Given the description of an element on the screen output the (x, y) to click on. 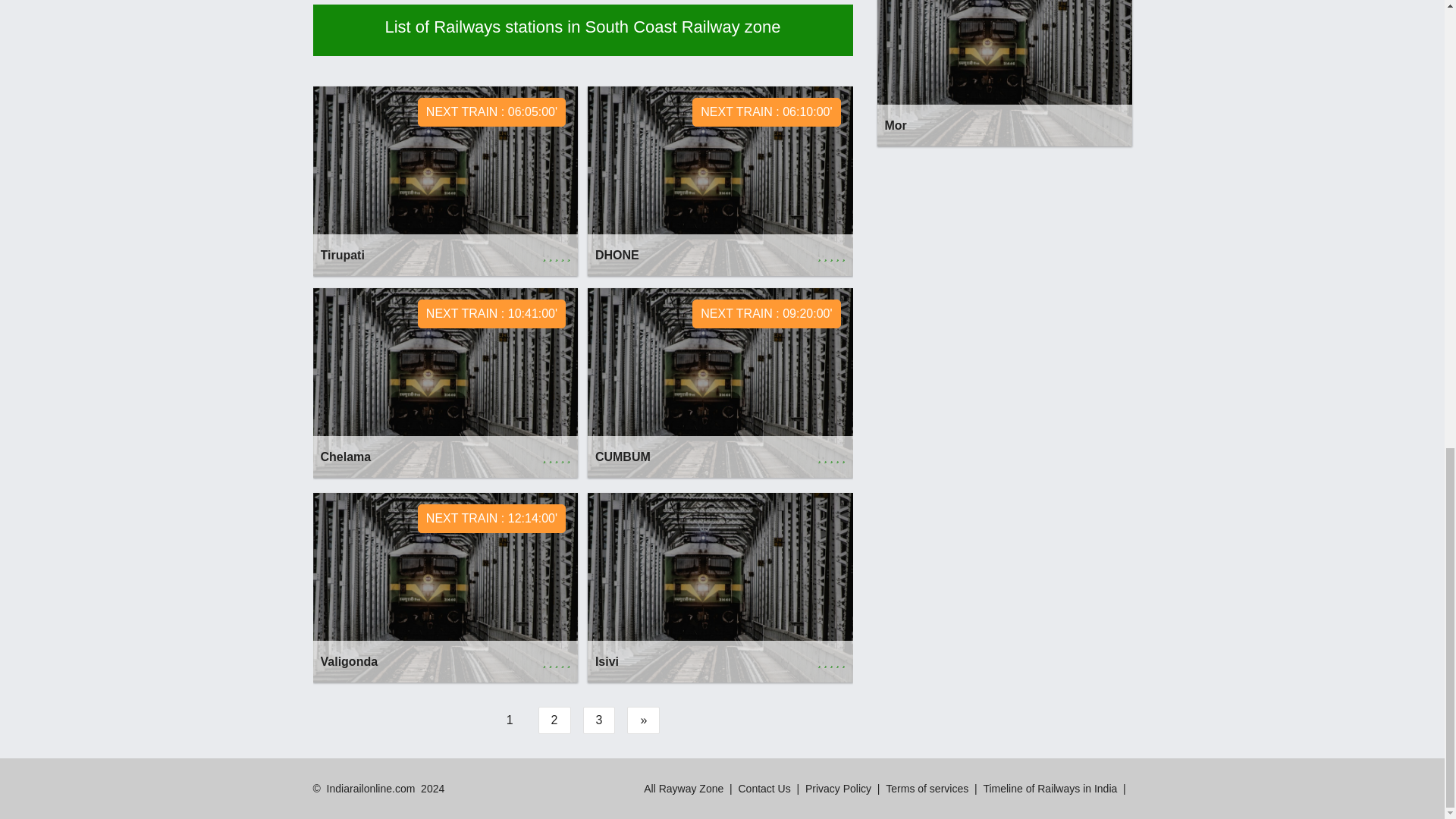
Timeline of Railways in India (445, 181)
All Rayway Zone (1003, 73)
Contact Us (1049, 788)
3 (683, 788)
Terms of services (445, 587)
2 (764, 788)
Indiarailonline.com (445, 382)
Privacy Policy (598, 719)
  Isivi (926, 788)
